Given the description of an element on the screen output the (x, y) to click on. 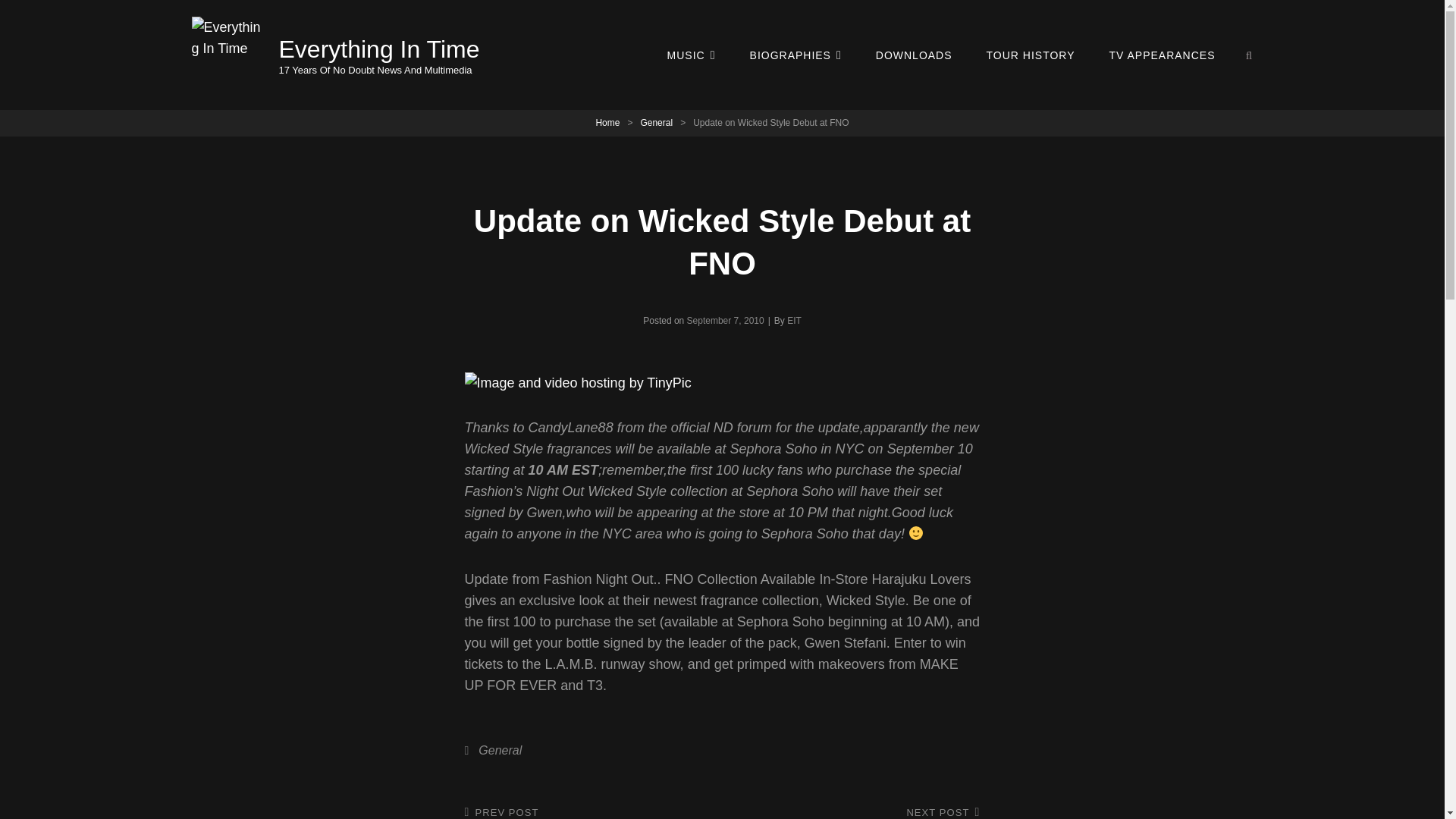
General (656, 122)
BIOGRAPHIES (796, 54)
EIT (794, 320)
MUSIC (691, 54)
Everything In Time (379, 48)
September 7, 2010 (725, 320)
Home (855, 812)
DOWNLOADS (607, 122)
TV APPEARANCES (914, 54)
TOUR HISTORY (1162, 54)
General (587, 812)
SEARCH (1030, 54)
